Given the description of an element on the screen output the (x, y) to click on. 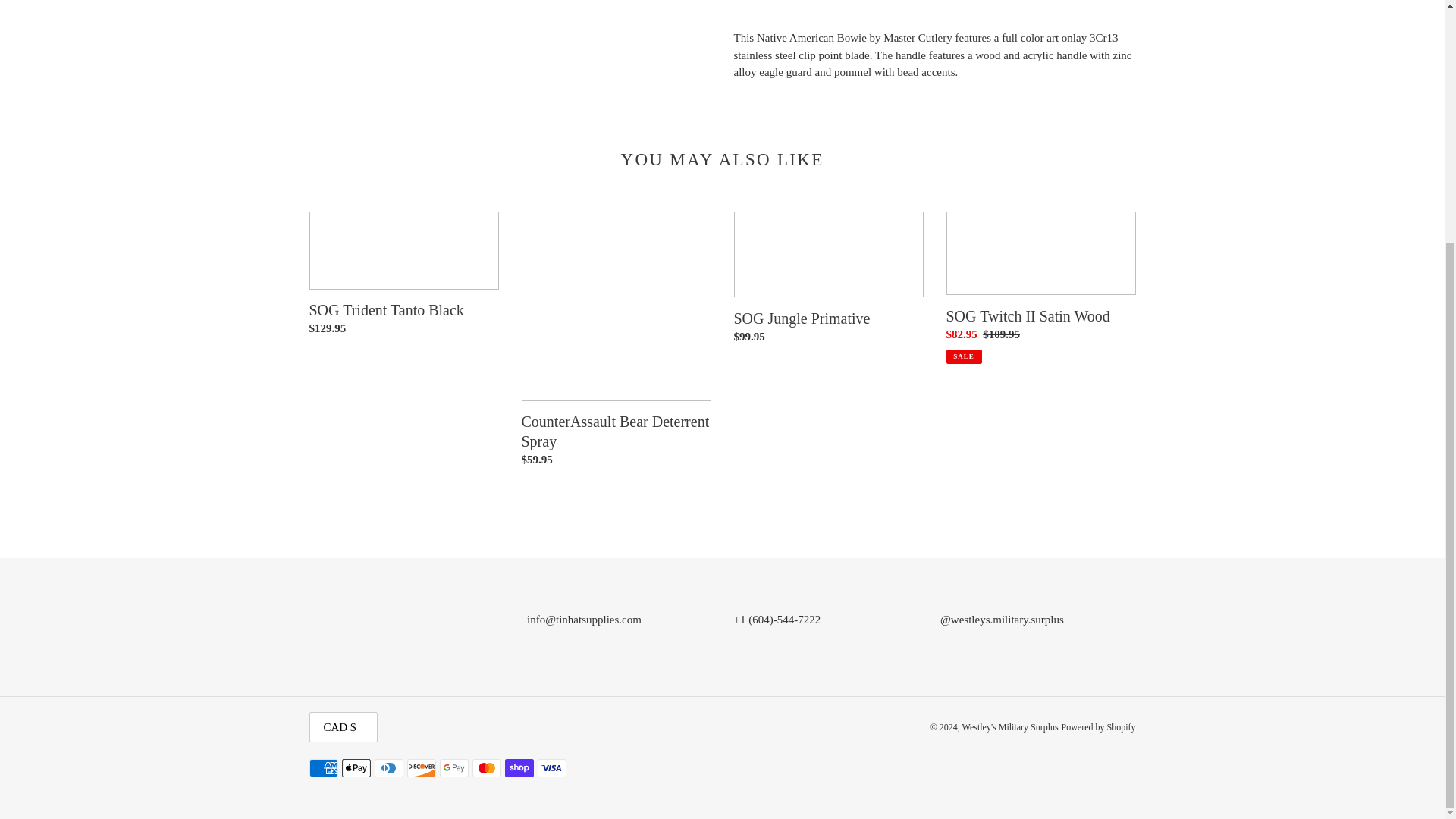
Westley's Military Surplus (1010, 726)
SOG Jungle Primative (828, 281)
Powered by Shopify (1098, 726)
SOG Twitch II Satin Wood (1040, 287)
SOG Trident Tanto Black (403, 277)
